Given the description of an element on the screen output the (x, y) to click on. 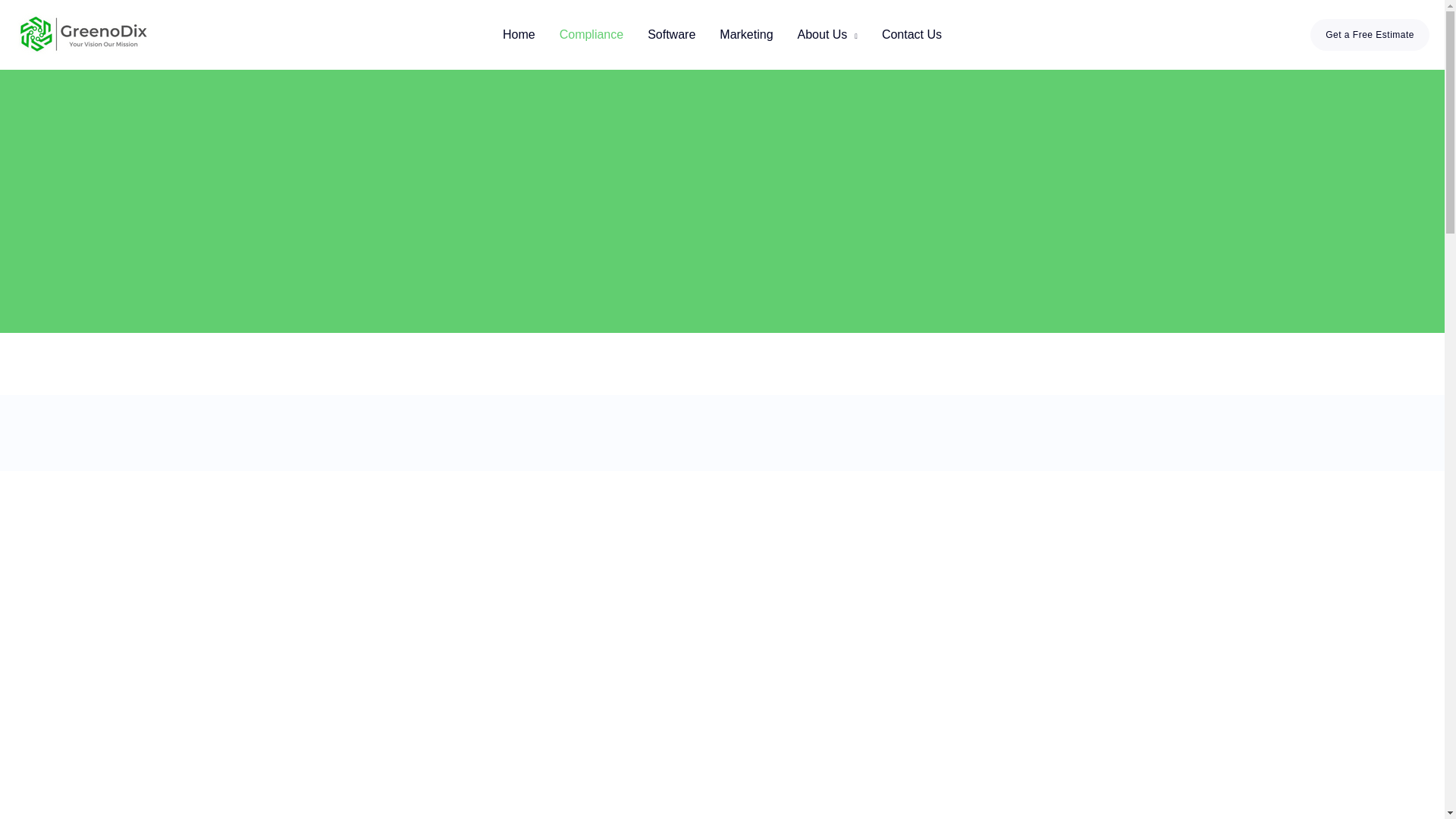
Software (670, 34)
Home (518, 34)
Compliance (590, 34)
Marketing (745, 34)
Contact Us (911, 34)
Get a Free Estimate (1369, 34)
About Us (827, 34)
